Given the description of an element on the screen output the (x, y) to click on. 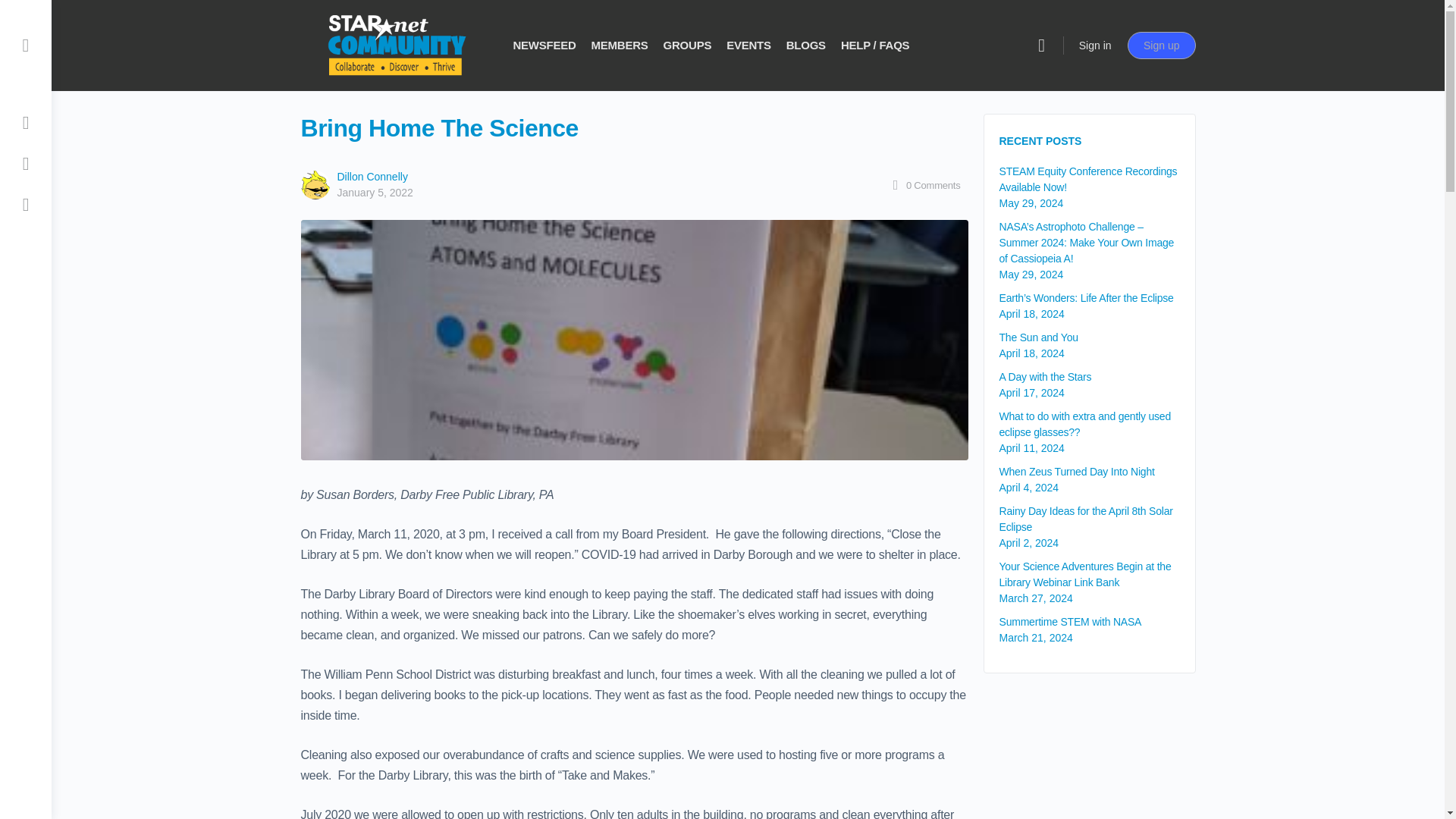
GROUPS (687, 45)
BLOGS (805, 45)
EVENTS (748, 45)
January 5, 2022 (374, 192)
Dillon Connelly (371, 176)
Sign up (1160, 44)
Sign in (1095, 45)
0 Comments (924, 185)
NEWSFEED (543, 45)
MEMBERS (619, 45)
